Given the description of an element on the screen output the (x, y) to click on. 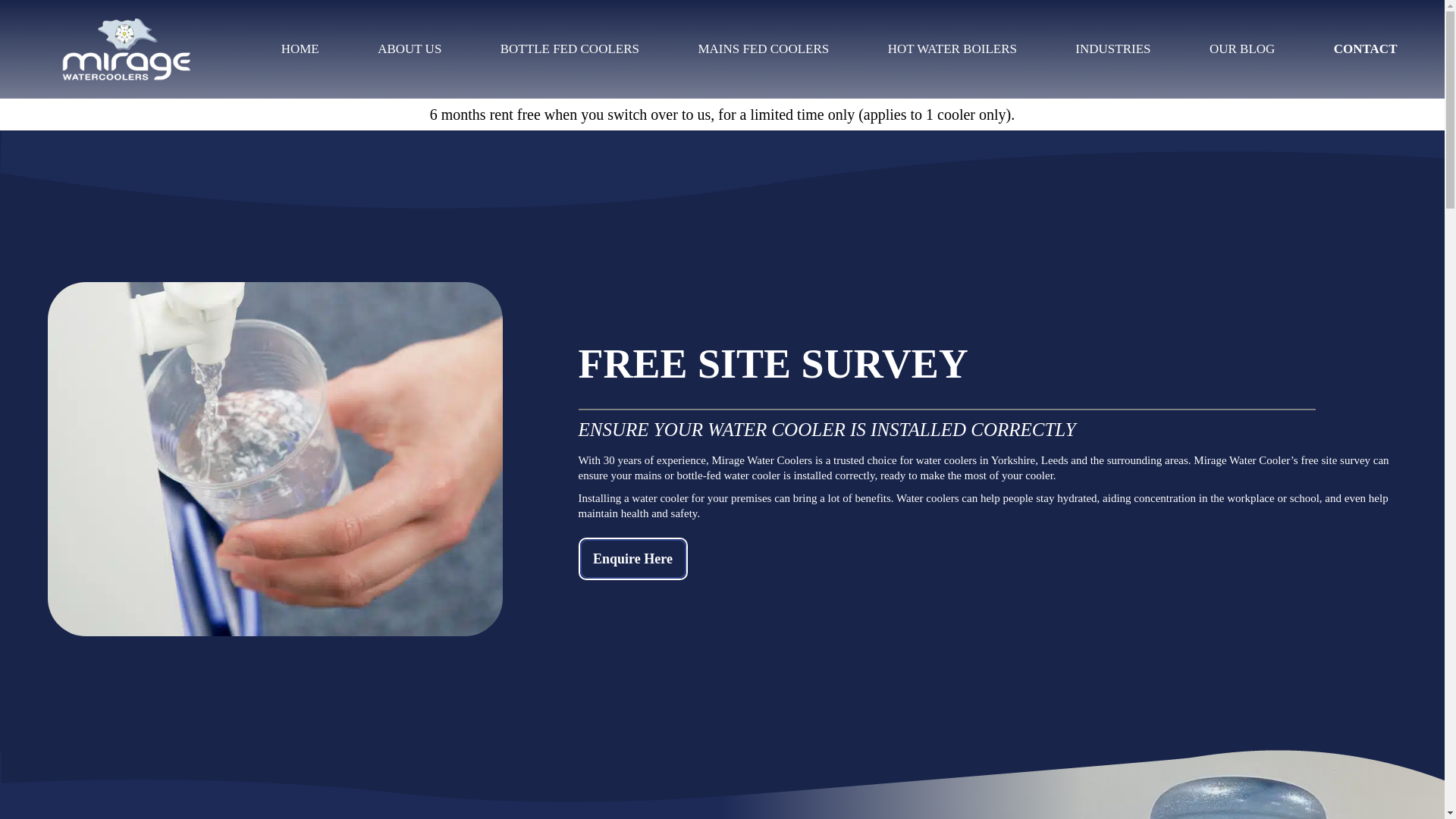
INDUSTRIES (1112, 48)
CONTACT (1365, 48)
MAINS FED COOLERS (762, 48)
HOME (299, 48)
HOT WATER BOILERS (952, 48)
Enquire Here (632, 558)
OUR BLOG (1242, 48)
ABOUT US (409, 48)
BOTTLE FED COOLERS (569, 48)
